Given the description of an element on the screen output the (x, y) to click on. 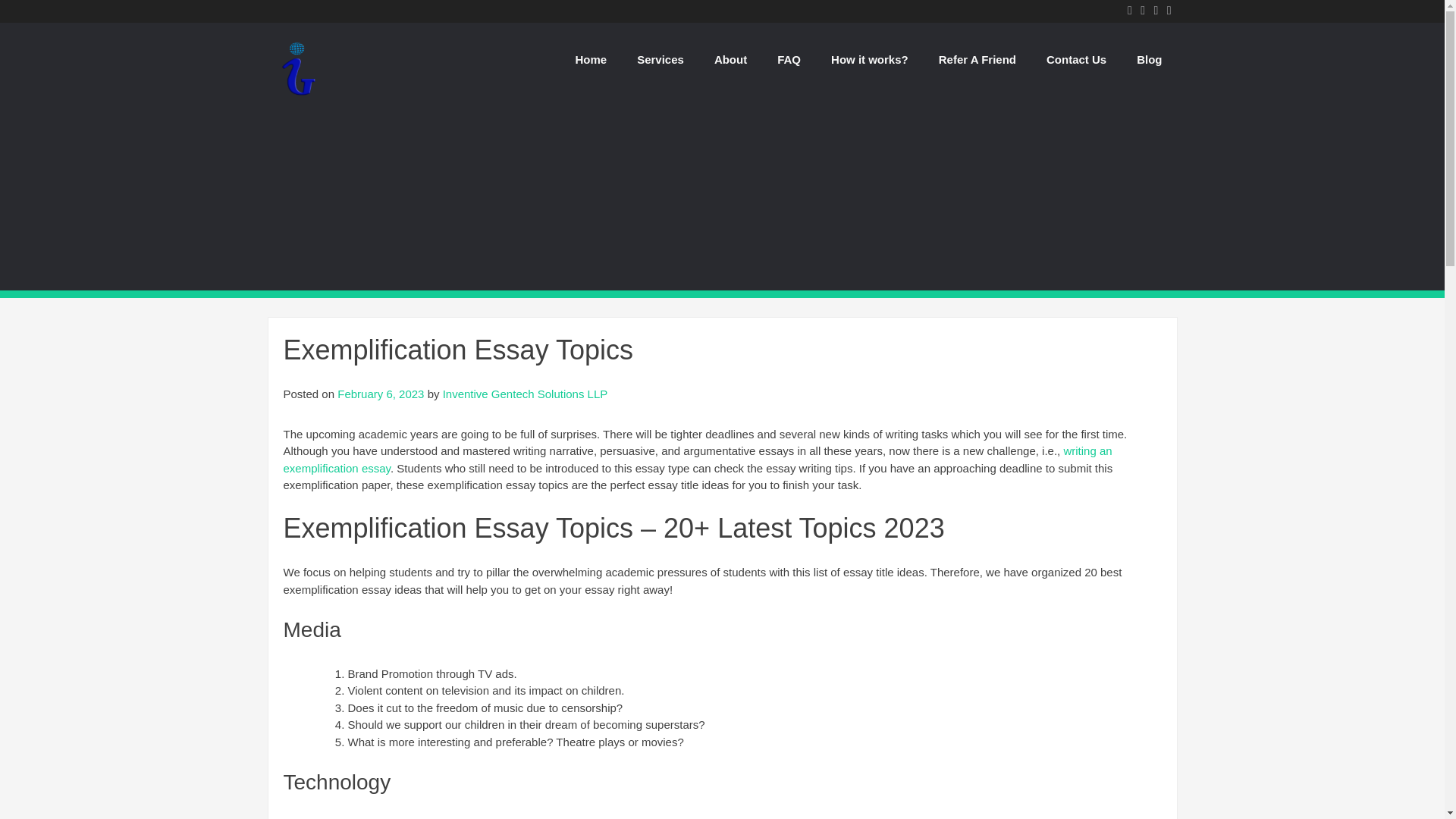
About (729, 59)
Services (659, 59)
Home (590, 59)
FAQ (788, 59)
Refer A Friend (976, 59)
Blog (1148, 59)
Contact Us (1075, 59)
How it works? (869, 59)
Inventive Gentech Solutions LLP (296, 95)
